Given the description of an element on the screen output the (x, y) to click on. 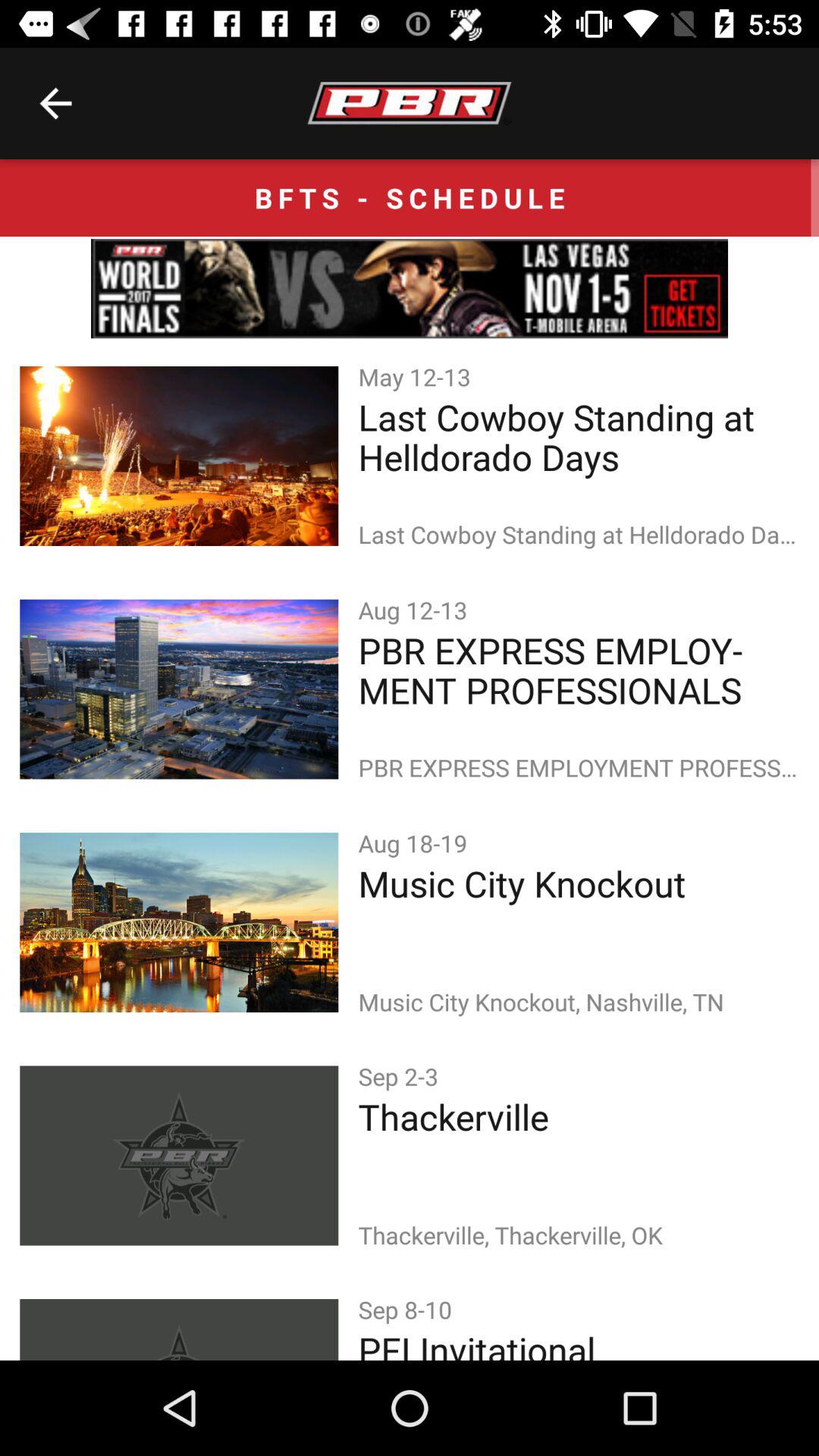
turn on the icon above the music city knockout icon (415, 842)
